Given the description of an element on the screen output the (x, y) to click on. 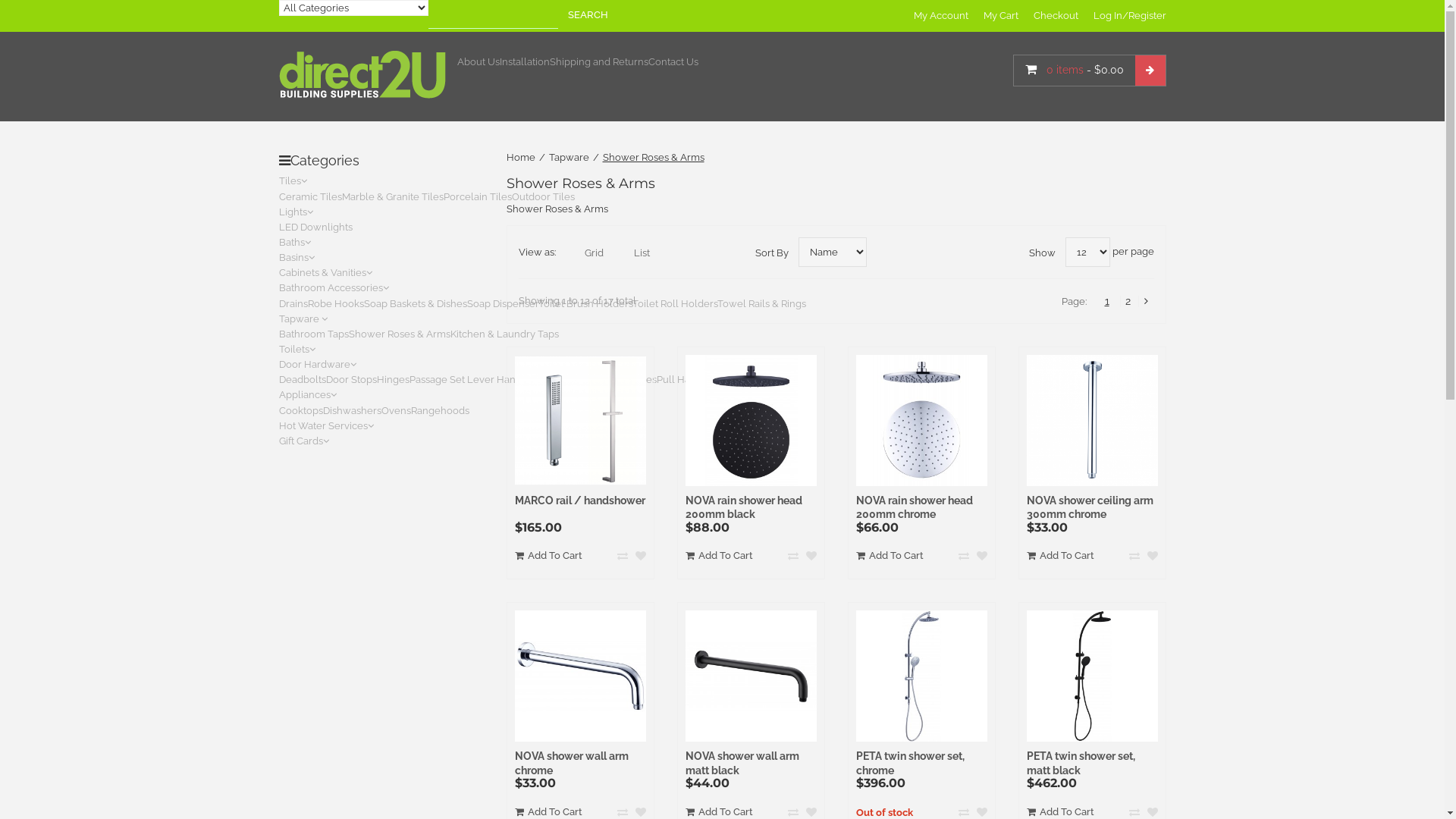
Shipping and Returns Element type: text (598, 61)
Add to Wishlist Element type: hover (810, 556)
Hinges Element type: text (392, 379)
Baths Element type: text (294, 241)
Robe Hooks Element type: text (335, 303)
Add to Compare Element type: hover (792, 556)
Checkout Element type: text (1054, 15)
Toilet Brush Holders Element type: text (585, 303)
SEARCH Element type: text (587, 15)
Log In Element type: text (1107, 15)
LED Downlights Element type: text (315, 226)
Cabinets & Vanities Element type: text (325, 272)
Tapware Element type: text (570, 157)
Add to Compare Element type: hover (622, 556)
Add to Wishlist Element type: hover (1151, 556)
Privacy Set Lever Handles Element type: text (595, 379)
Bathroom Accessories Element type: text (334, 287)
PETA twin shower set, chrome Element type: text (909, 762)
NOVA SHOWER WALL ARM CHROME Element type: hover (579, 675)
NOVA rain shower head 200mm black Element type: text (743, 507)
My Account Element type: text (940, 15)
Tiles Element type: text (293, 180)
Rangehoods Element type: text (440, 410)
Lights Element type: text (296, 211)
Add to Wishlist Element type: hover (981, 556)
MARCO rail / handshower Element type: text (579, 500)
Toilets Element type: text (297, 348)
Shower Roses & Arms Element type: text (399, 333)
Outdoor Tiles Element type: text (542, 196)
NOVA SHOWER WALL ARM MATT BLACK  Element type: hover (750, 675)
Installation Element type: text (523, 61)
Gift Cards Element type: text (304, 440)
Add To Cart Element type: text (547, 555)
Towel Rails & Rings Element type: text (761, 303)
Passage Set Lever Handles Element type: text (472, 379)
Dishwashers Element type: text (352, 410)
Add to Wishlist Element type: hover (640, 556)
MARCO rail / handshower Element type: hover (579, 420)
Home Element type: text (520, 157)
2 Element type: text (1127, 301)
Basins Element type: text (296, 257)
Peta twin shower matt black  Element type: hover (1091, 675)
Ceramic Tiles Element type: text (310, 196)
Tapware Element type: text (303, 318)
NOVA shower wall arm chrome Element type: text (570, 762)
Add To Cart Element type: text (1060, 555)
Appliances Element type: text (307, 394)
My Cart Element type: text (999, 15)
Add To Cart Element type: text (719, 555)
List Element type: text (630, 252)
Hot Water Services Element type: text (326, 425)
NOVA shower wall arm matt black Element type: text (742, 762)
Toilet Roll Holders Element type: text (674, 303)
Kitchen & Laundry Taps Element type: text (504, 333)
NOVA rain shower head 200mm chrome Element type: hover (920, 420)
Peta twin shower set chrome Element type: hover (920, 675)
Direct2U Building Supplies Element type: hover (362, 74)
Cooktops Element type: text (301, 410)
Ovens Element type: text (395, 410)
Door Hardware Element type: text (317, 364)
Door Stops Element type: text (351, 379)
Register Element type: text (1147, 15)
Marble & Granite Tiles Element type: text (391, 196)
Soap Dispenser Element type: text (502, 303)
NOVA shower ceiling arm 300mm chrome Element type: text (1089, 507)
Add to Compare Element type: hover (1133, 556)
Contact Us Element type: text (672, 61)
About Us Element type: text (477, 61)
NOVA rain shower head 200mm chrome Element type: text (913, 507)
Pull Handle Element type: text (683, 379)
Soap Baskets & Dishes Element type: text (415, 303)
Nova Shower Ceiling Arm Element type: hover (1091, 420)
Deadbolts Element type: text (302, 379)
Add to Compare Element type: hover (963, 556)
PETA twin shower set, matt black Element type: text (1080, 762)
Next Element type: hover (1146, 301)
0 items - $0.00 Element type: text (1089, 70)
Drains Element type: text (293, 303)
Porcelain Tiles Element type: text (476, 196)
Bathroom Taps Element type: text (313, 333)
NOVA rain shower head 200mm black  Element type: hover (750, 420)
Add To Cart Element type: text (888, 555)
